Given the description of an element on the screen output the (x, y) to click on. 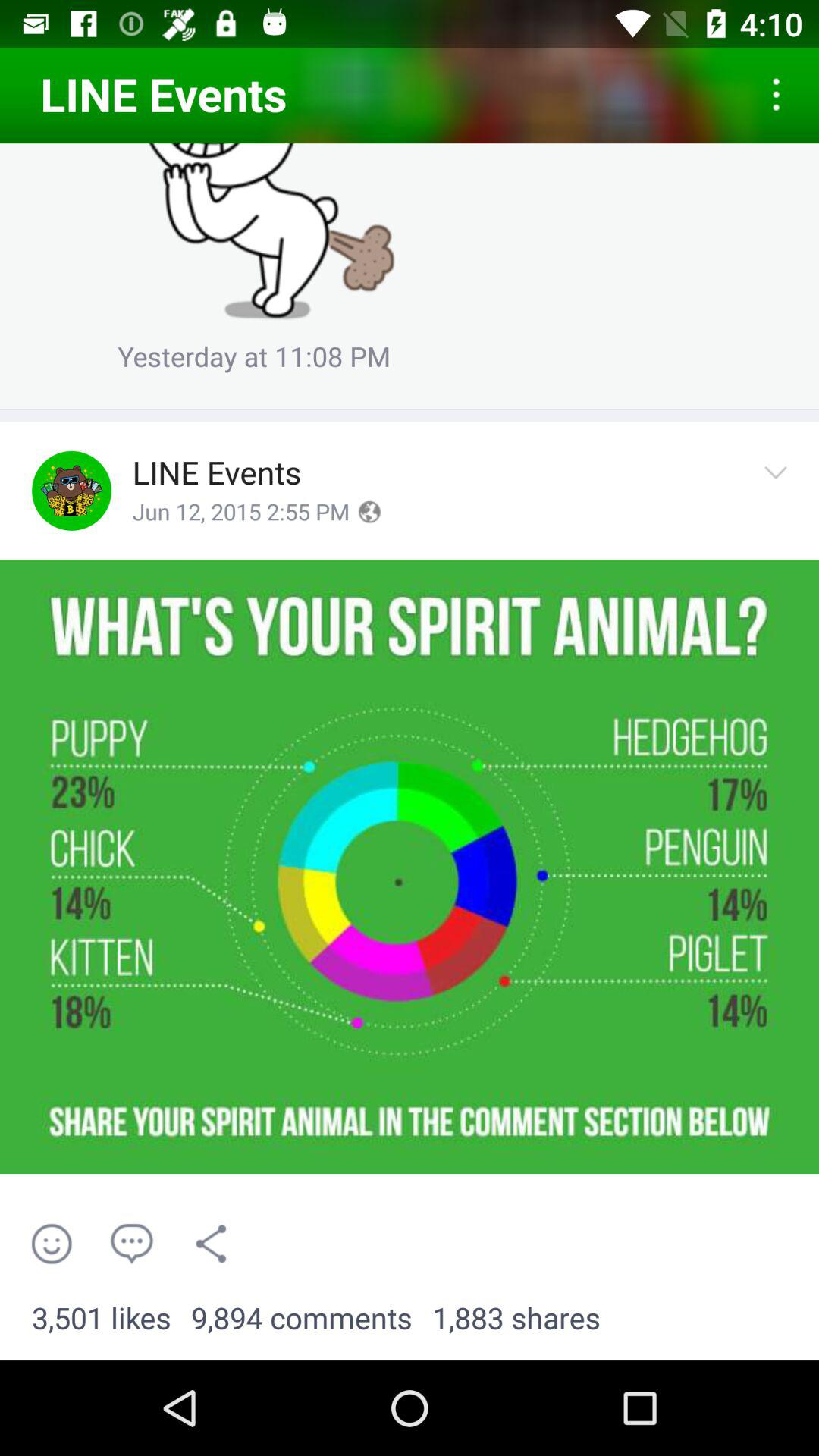
turn on the yesterday at 11 icon (253, 362)
